Given the description of an element on the screen output the (x, y) to click on. 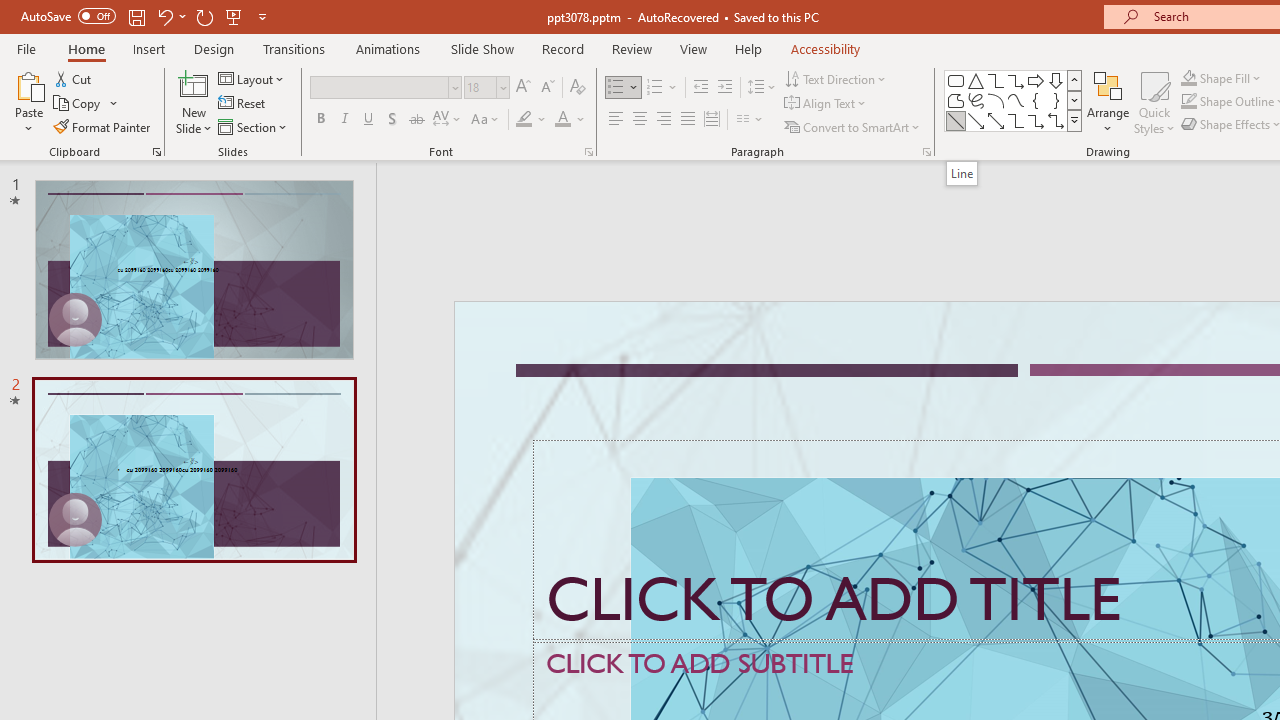
Paste (28, 102)
Freeform: Shape (955, 100)
Line Arrow: Double (995, 120)
Underline (369, 119)
Shadow (392, 119)
Shape Fill (1221, 78)
Freeform: Scribble (975, 100)
Undo (170, 15)
Insert (149, 48)
Strikethrough (416, 119)
Animations (388, 48)
Open (502, 87)
Font Size (480, 87)
Connector: Elbow Arrow (1035, 120)
Bold (320, 119)
